Given the description of an element on the screen output the (x, y) to click on. 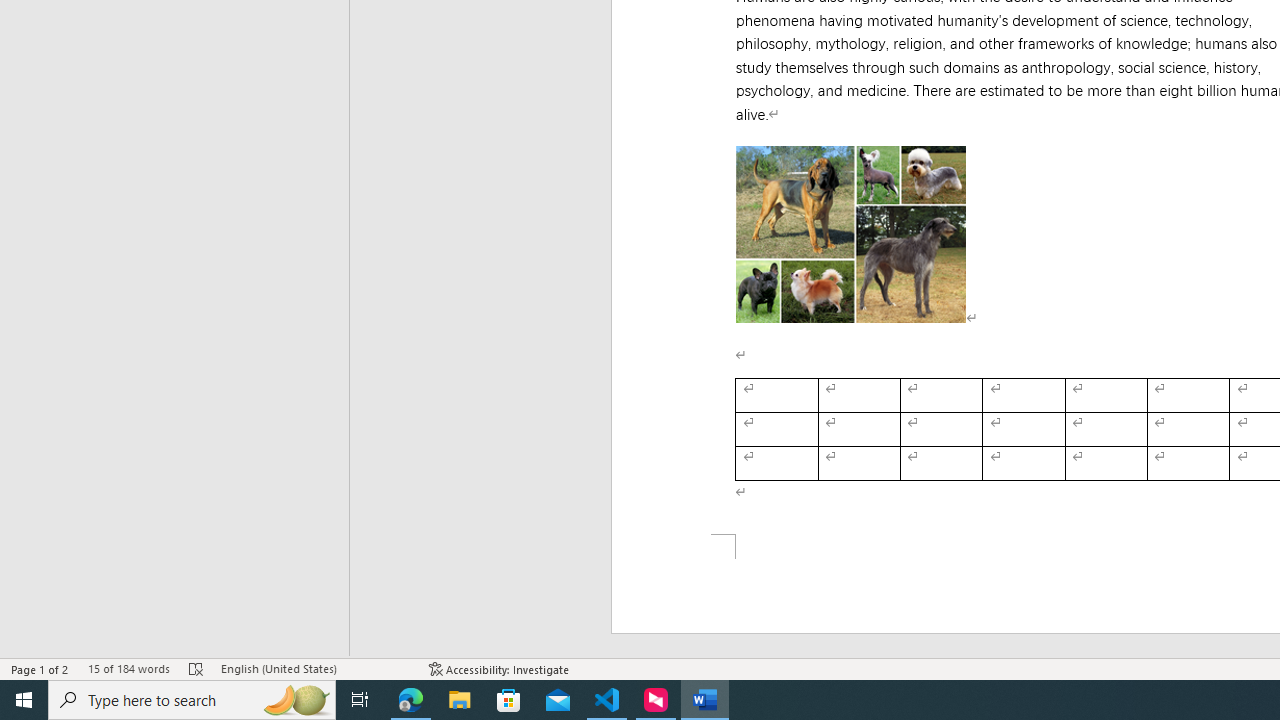
Word Count 15 of 184 words (128, 668)
Page Number Page 1 of 2 (39, 668)
